Given the description of an element on the screen output the (x, y) to click on. 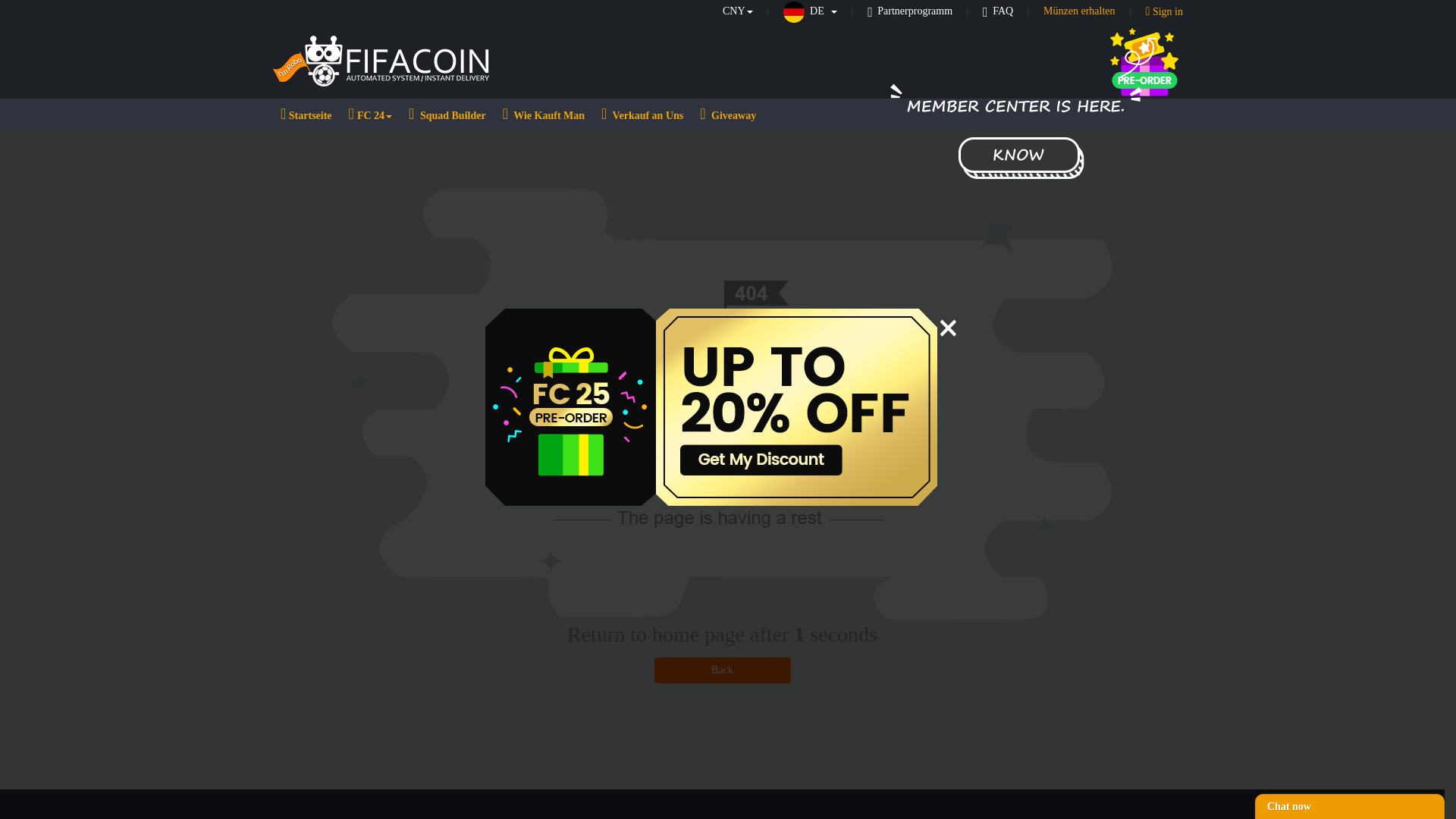
FC 24 (369, 113)
FAQ (997, 10)
Deutsch (810, 11)
Startseite (306, 113)
Sign in (1163, 11)
Verkauf an Uns (642, 113)
Wie Kauft Man (543, 113)
DE (810, 11)
Partnerprogramm (909, 10)
Giveaway (727, 113)
